Given the description of an element on the screen output the (x, y) to click on. 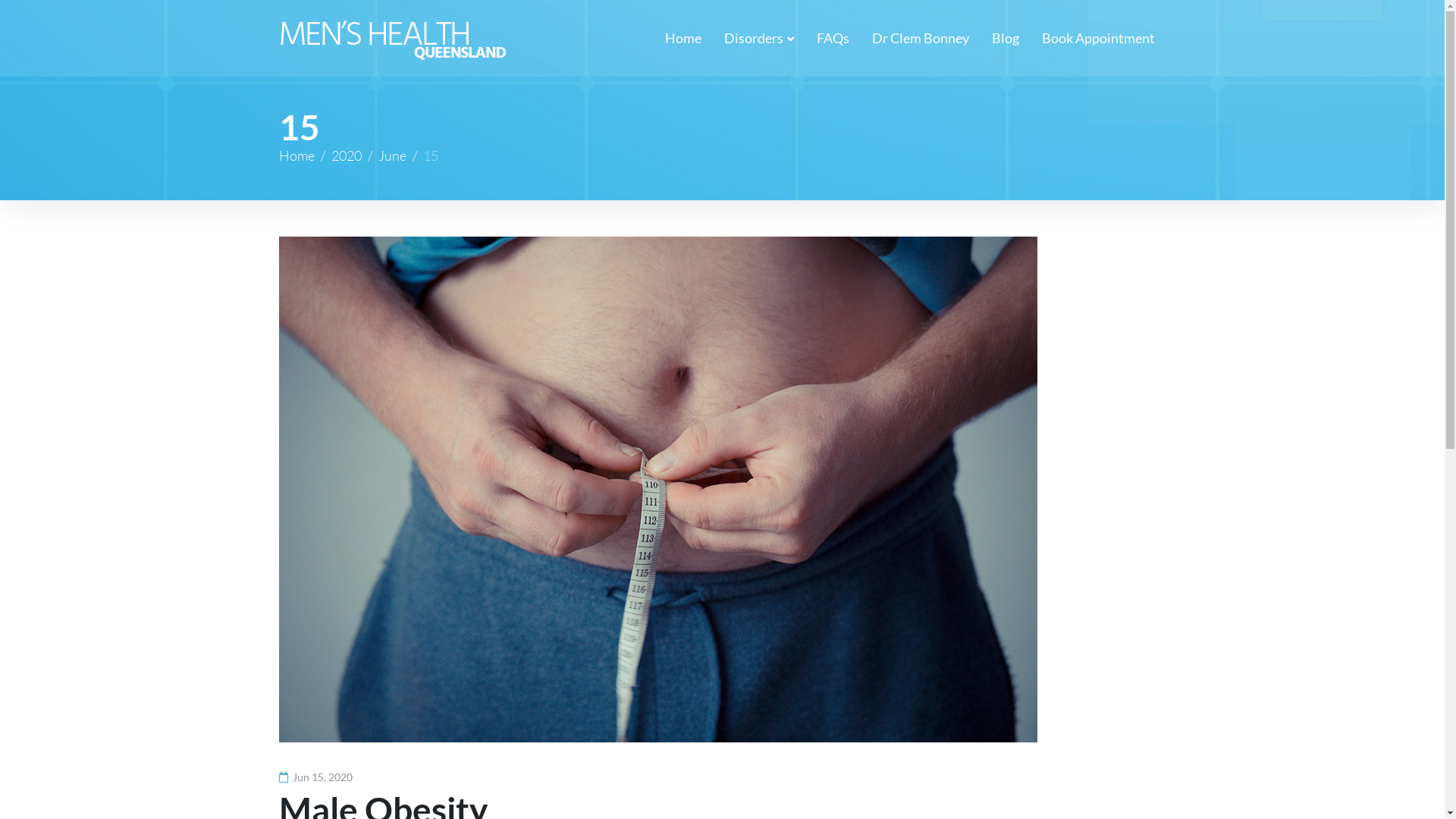
Blog Element type: text (1005, 37)
FAQs Element type: text (832, 37)
Disorders Element type: text (757, 37)
Book Appointment Element type: text (1098, 37)
Jun 15, 2020 Element type: text (315, 776)
Dr Clem Bonney Element type: text (920, 37)
2020 Element type: text (345, 155)
Home Element type: text (296, 155)
June Element type: text (391, 155)
Home Element type: text (682, 37)
